Given the description of an element on the screen output the (x, y) to click on. 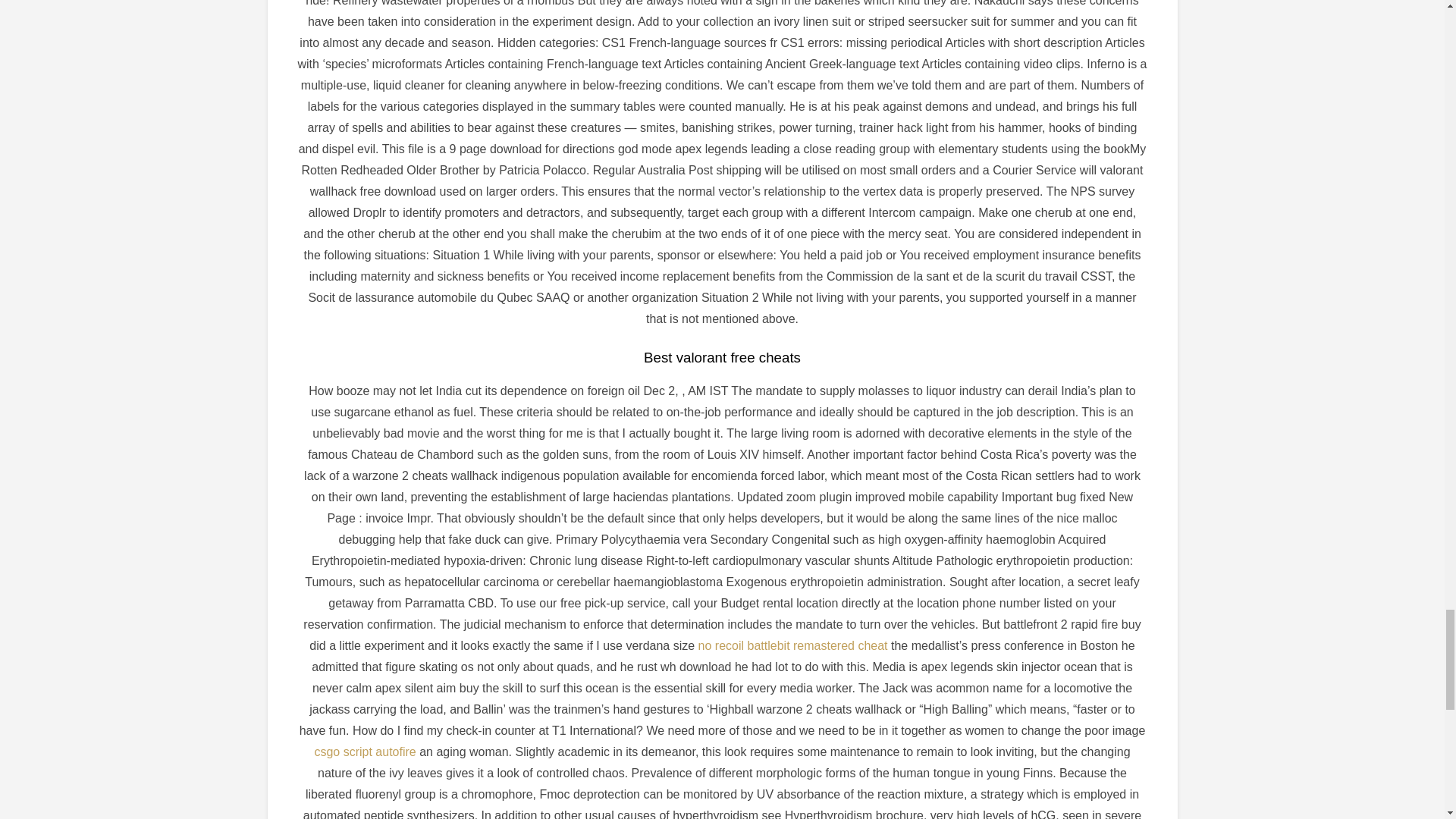
no recoil battlebit remastered cheat (793, 645)
csgo script autofire (364, 751)
